Given the description of an element on the screen output the (x, y) to click on. 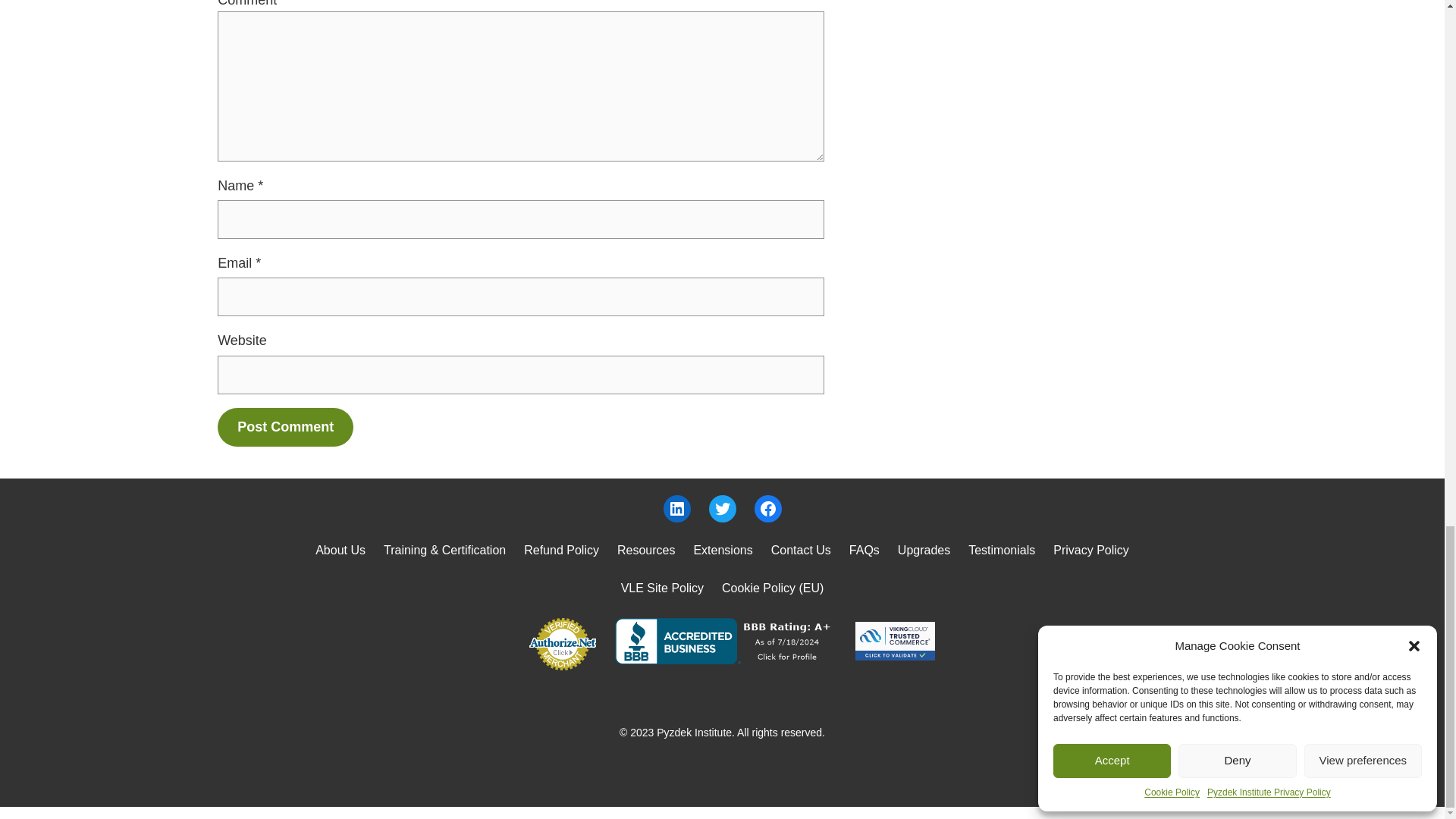
Post Comment (284, 426)
Post Comment (284, 426)
